Given the description of an element on the screen output the (x, y) to click on. 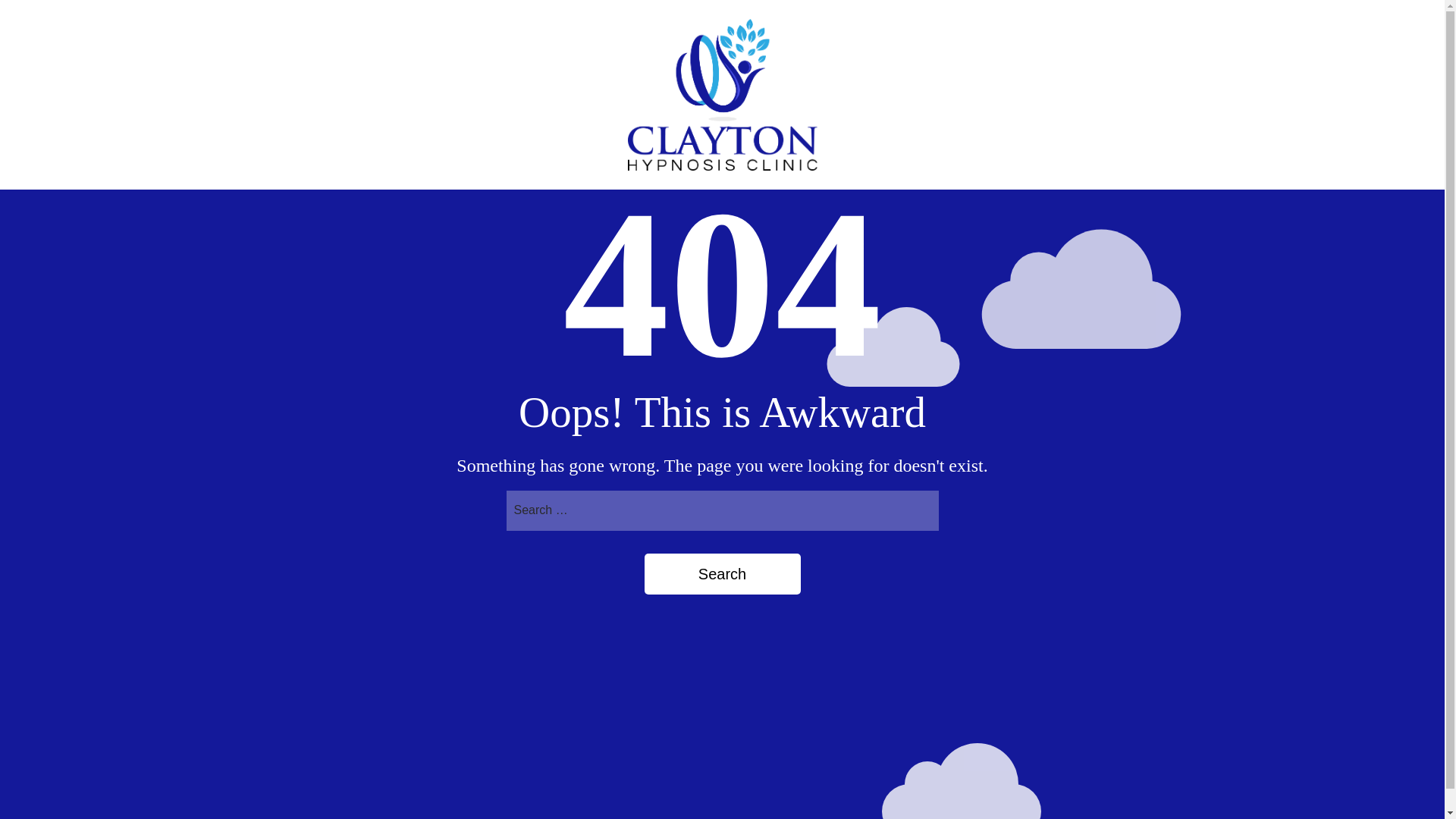
Search (722, 573)
Search (722, 573)
Search (722, 573)
